Given the description of an element on the screen output the (x, y) to click on. 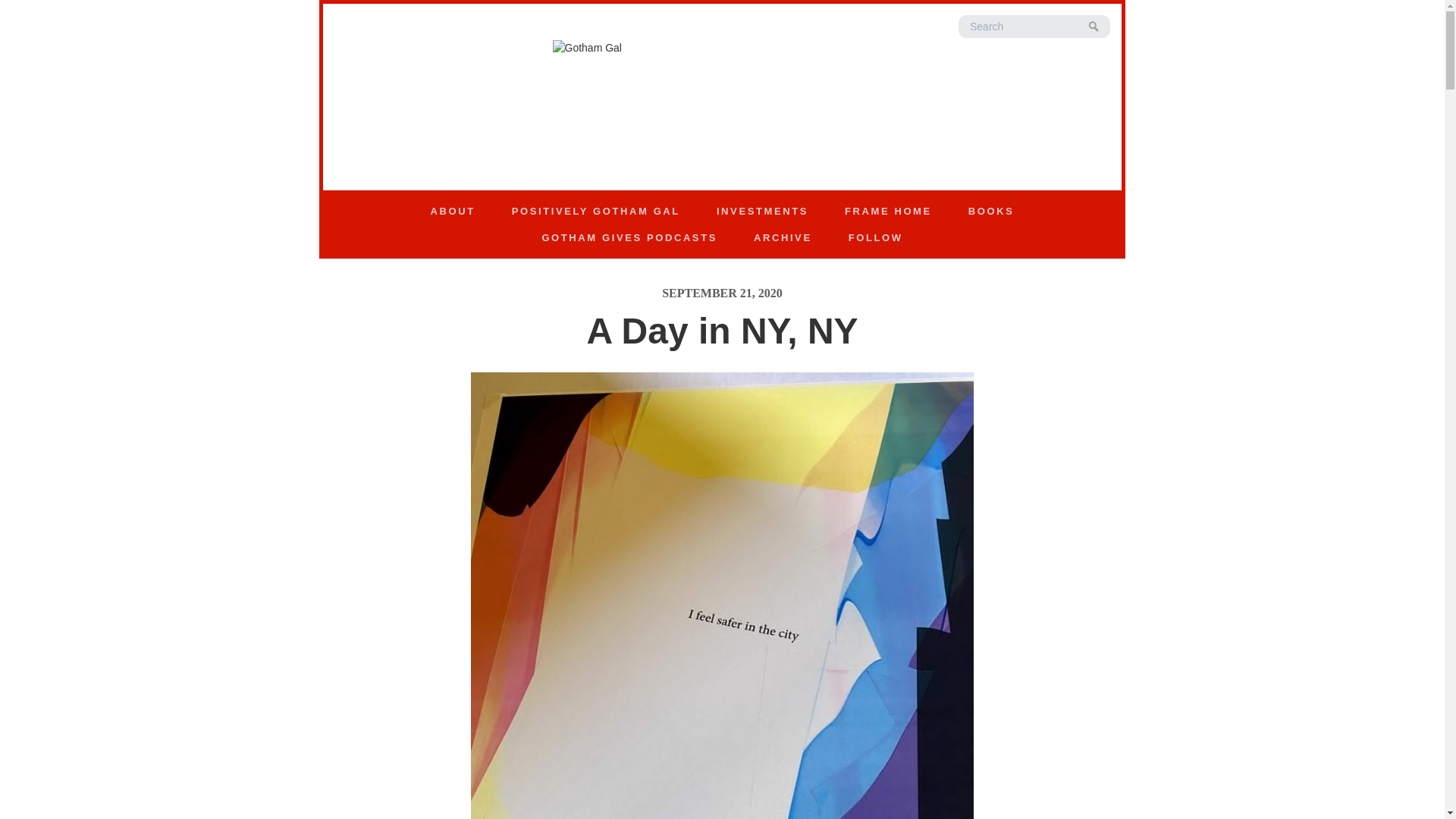
Follow (875, 237)
Archive (782, 237)
POSITIVELY GOTHAM GAL (596, 210)
Gotham Gives Podcasts (628, 237)
FRAME HOME (888, 210)
Investments (762, 210)
FOLLOW (875, 237)
ARCHIVE (782, 237)
About (452, 210)
INVESTMENTS (762, 210)
